Given the description of an element on the screen output the (x, y) to click on. 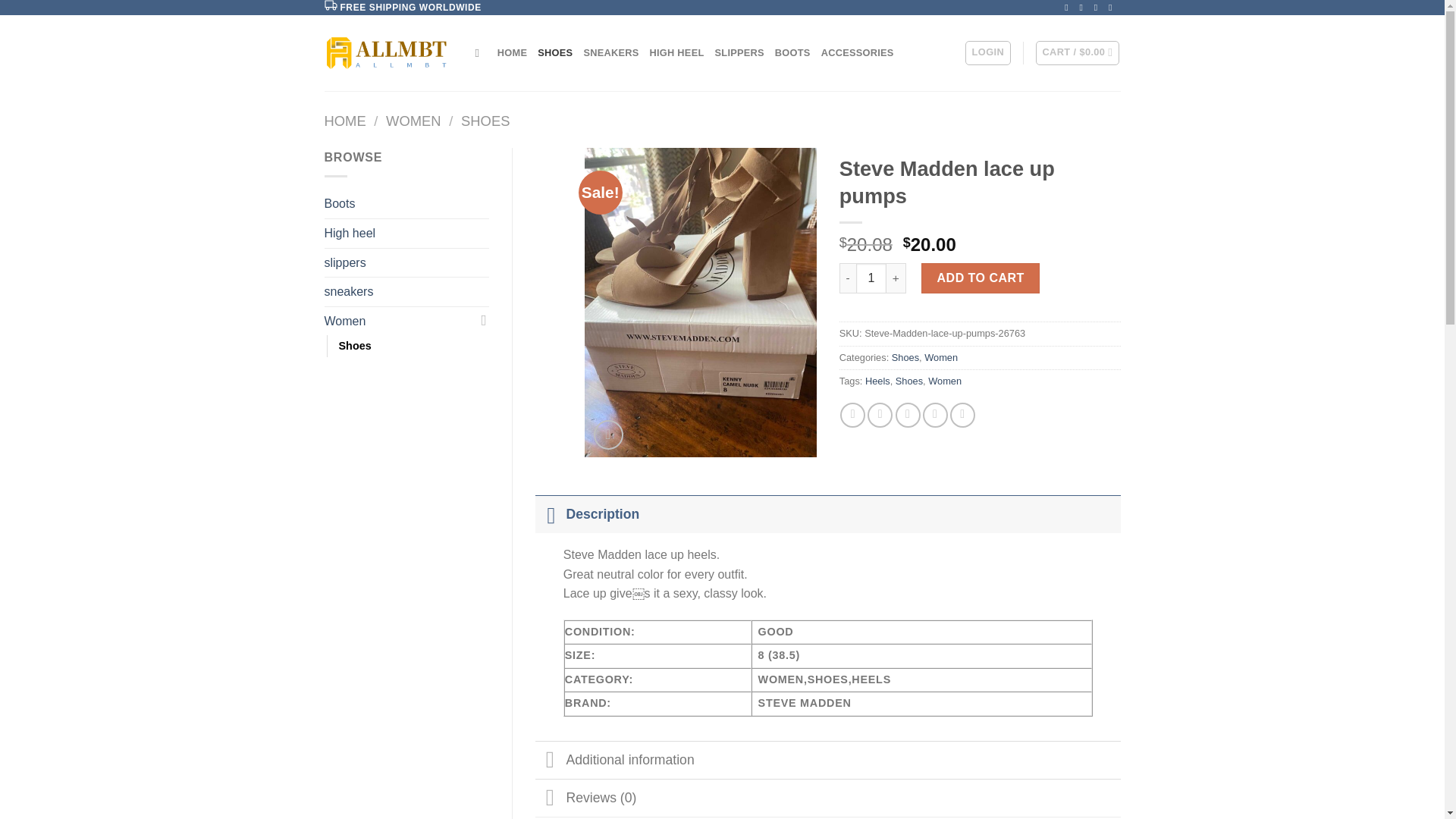
Follow on Facebook (1069, 7)
Heels (876, 380)
HOME (345, 120)
LOGIN (987, 52)
Shoes (354, 345)
HIGH HEEL (676, 52)
High heel (406, 233)
Boots (406, 203)
sneakers (406, 291)
Send us an email (1113, 7)
SHOES (485, 120)
Women (941, 357)
ACCESSORIES (857, 52)
Follow on Instagram (1084, 7)
Cart (1077, 52)
